Given the description of an element on the screen output the (x, y) to click on. 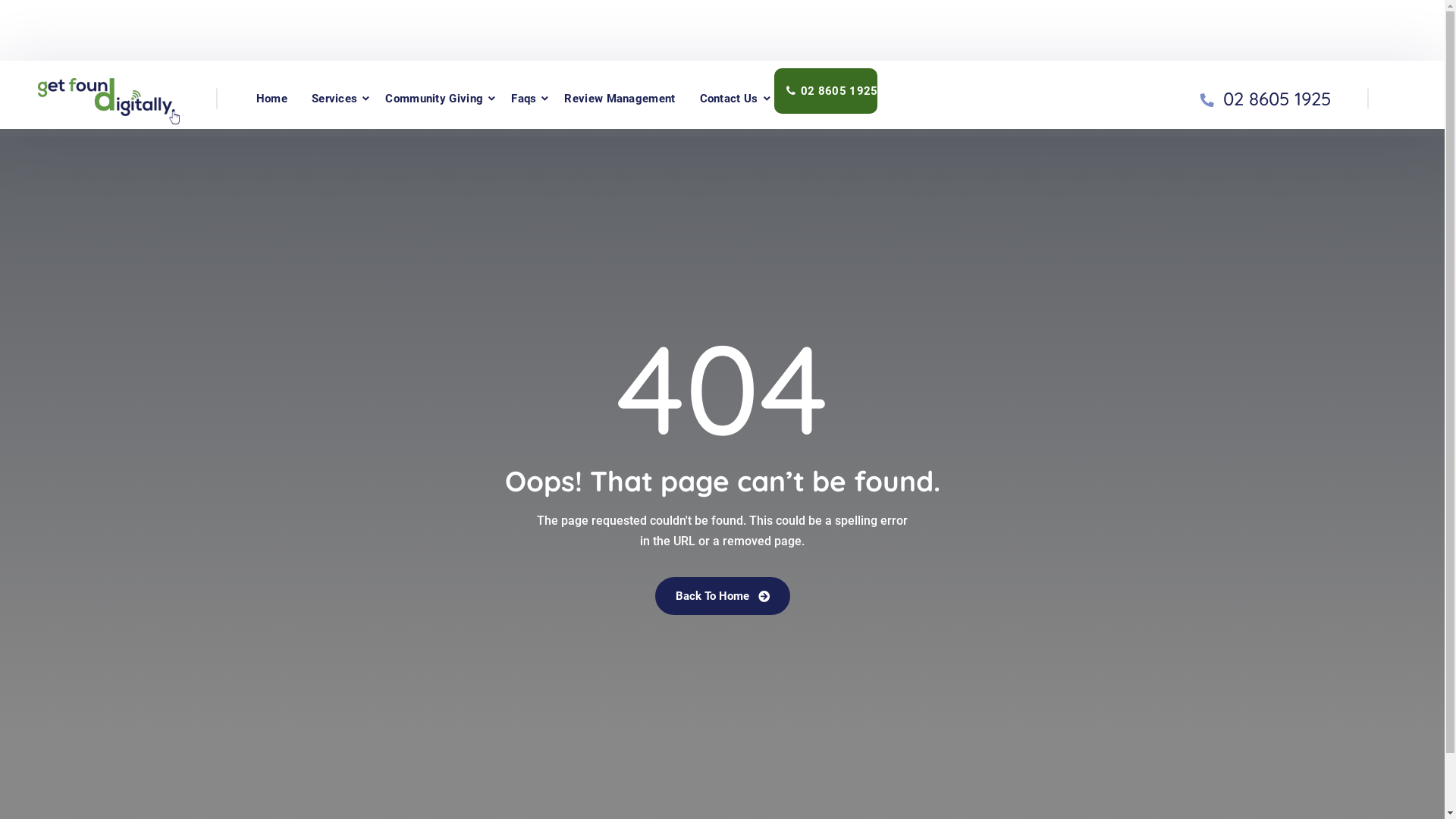
02 8605 1925 Element type: text (1276, 98)
Back To Home Element type: text (722, 596)
Getfound Digitally Element type: hover (108, 97)
Services Element type: text (334, 98)
Community Giving Element type: text (434, 98)
Home Element type: text (271, 98)
Contact Us Element type: text (728, 98)
02 8605 1925 Element type: text (826, 90)
Review Management Element type: text (619, 98)
Faqs Element type: text (523, 98)
